Given the description of an element on the screen output the (x, y) to click on. 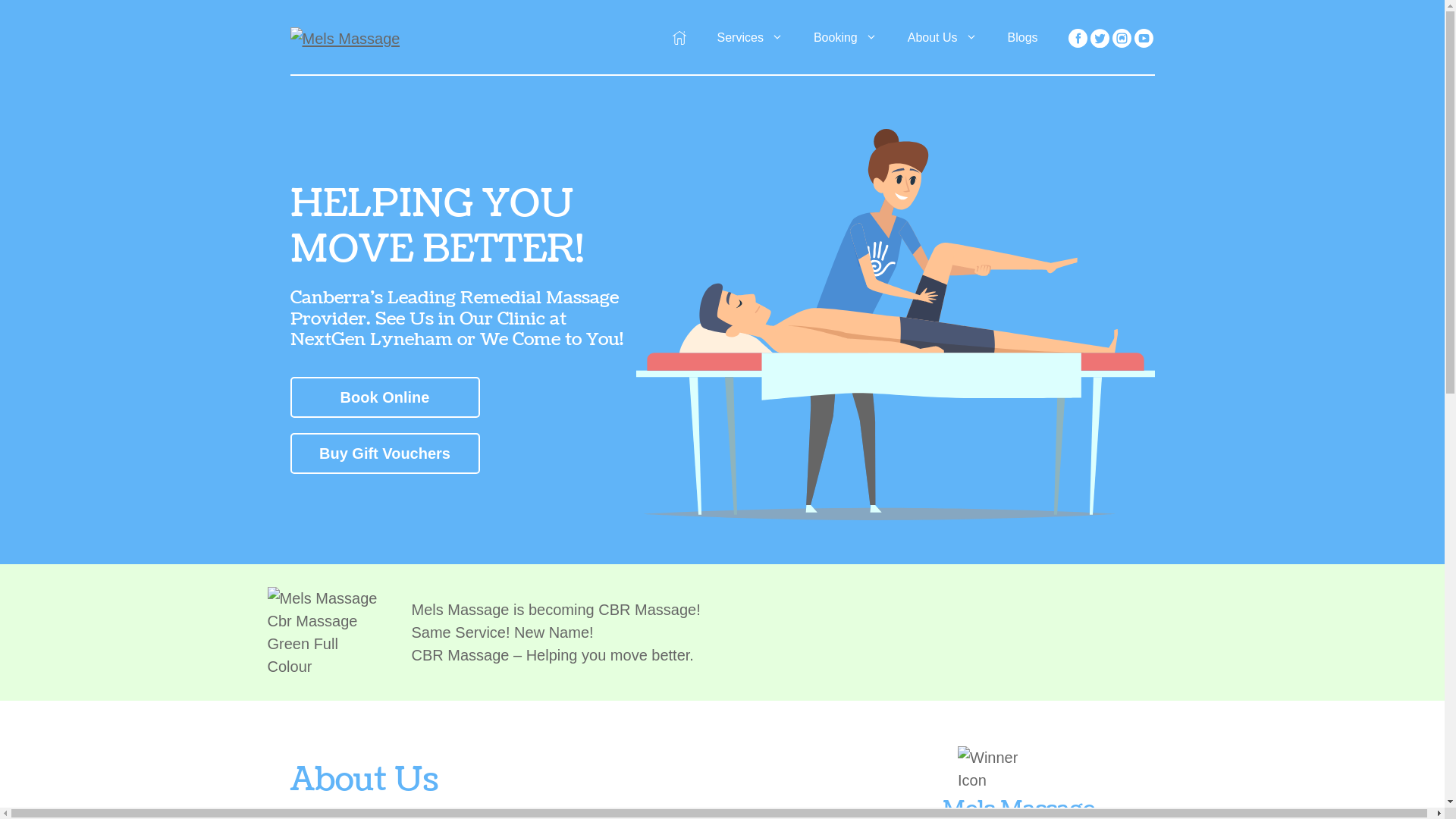
About Us Element type: text (942, 37)
Buy Gift Vouchers Element type: text (384, 453)
Book Online Element type: text (384, 396)
Services Element type: text (750, 37)
Blogs Element type: text (1022, 37)
Mels Massage Element type: hover (344, 36)
Booking Element type: text (845, 37)
Mels Massage Element type: hover (344, 38)
